Given the description of an element on the screen output the (x, y) to click on. 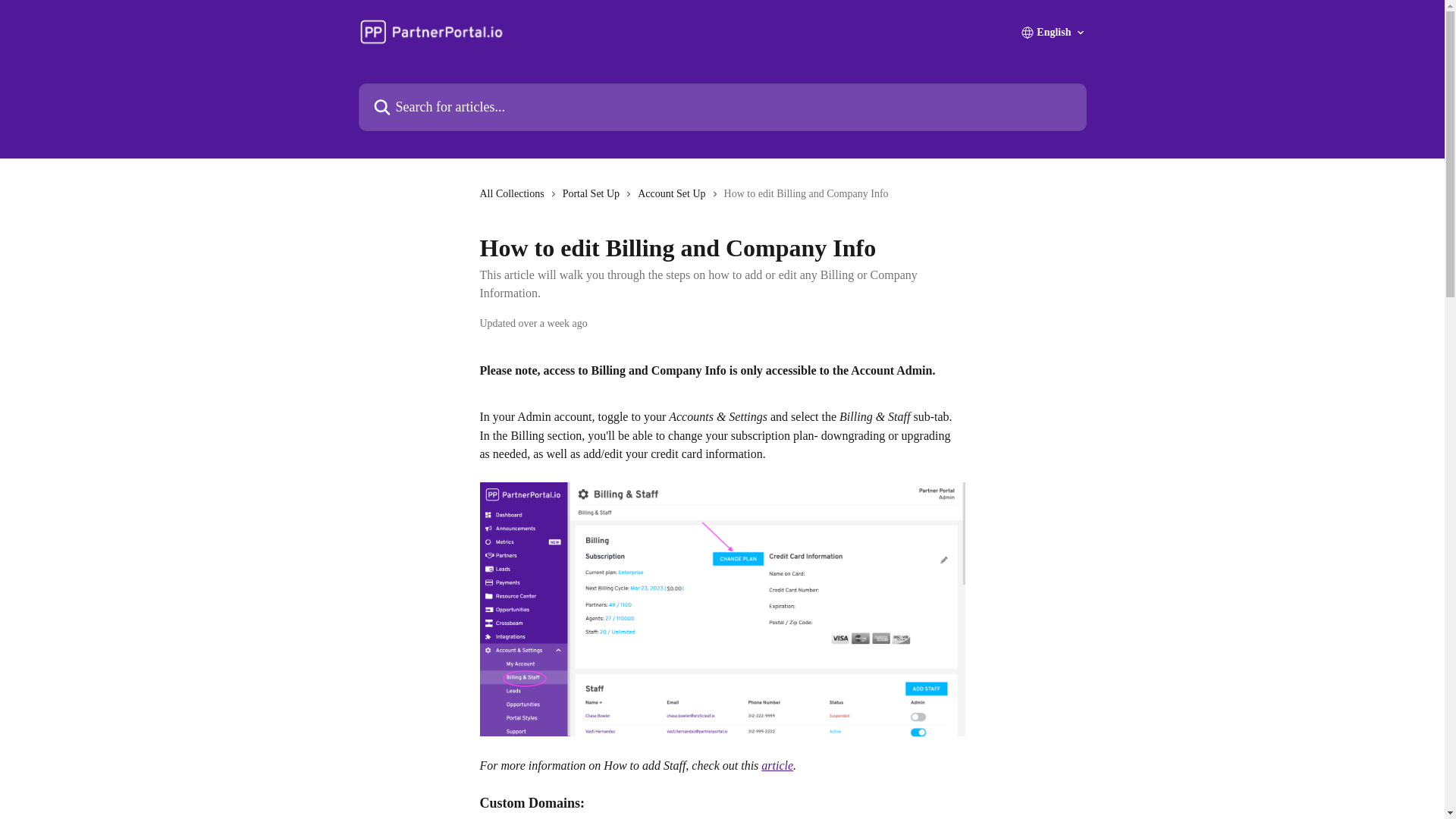
All Collections (514, 193)
Portal Set Up (594, 193)
Account Set Up (674, 193)
article (777, 765)
